Given the description of an element on the screen output the (x, y) to click on. 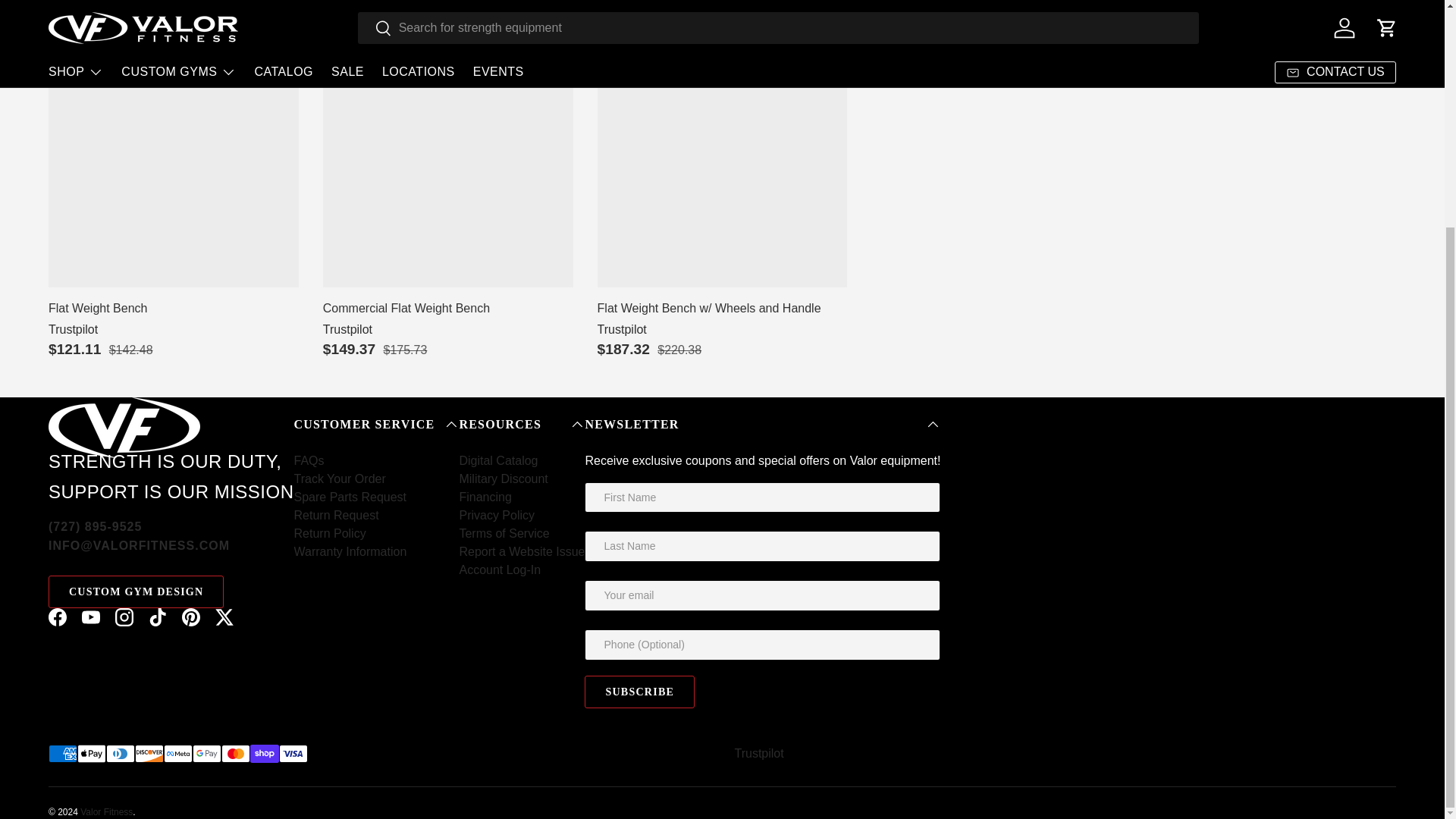
Valor Fitness on Twitter (224, 616)
Valor Fitness on TikTok (157, 616)
Valor Fitness on YouTube (90, 616)
Valor Fitness on Facebook (57, 616)
Valor Fitness on Instagram (124, 616)
Valor Fitness on Pinterest (191, 616)
tel:727-895-9525 (94, 525)
American Express (62, 753)
